Given the description of an element on the screen output the (x, y) to click on. 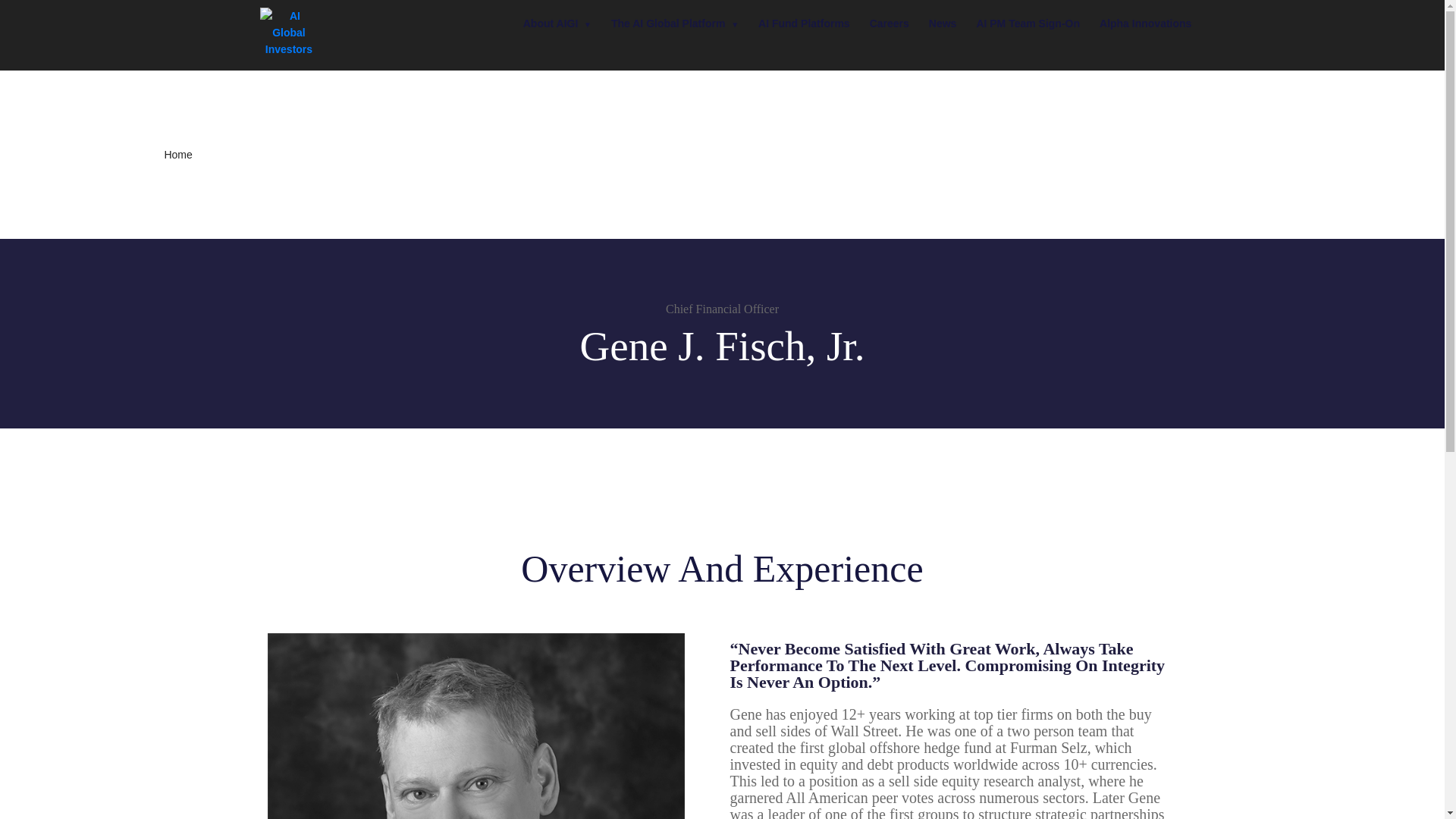
Careers (889, 23)
The AI Global Platform (674, 24)
AI PM Team Sign-On (1027, 23)
AI PM Team Sign-on (1027, 23)
Alpha Innovations (1144, 23)
About AIGI (556, 24)
The AI Global Platform (674, 24)
Alpha Innovations (1144, 23)
AI Fund Platforms (804, 23)
About AIGI (556, 24)
